Given the description of an element on the screen output the (x, y) to click on. 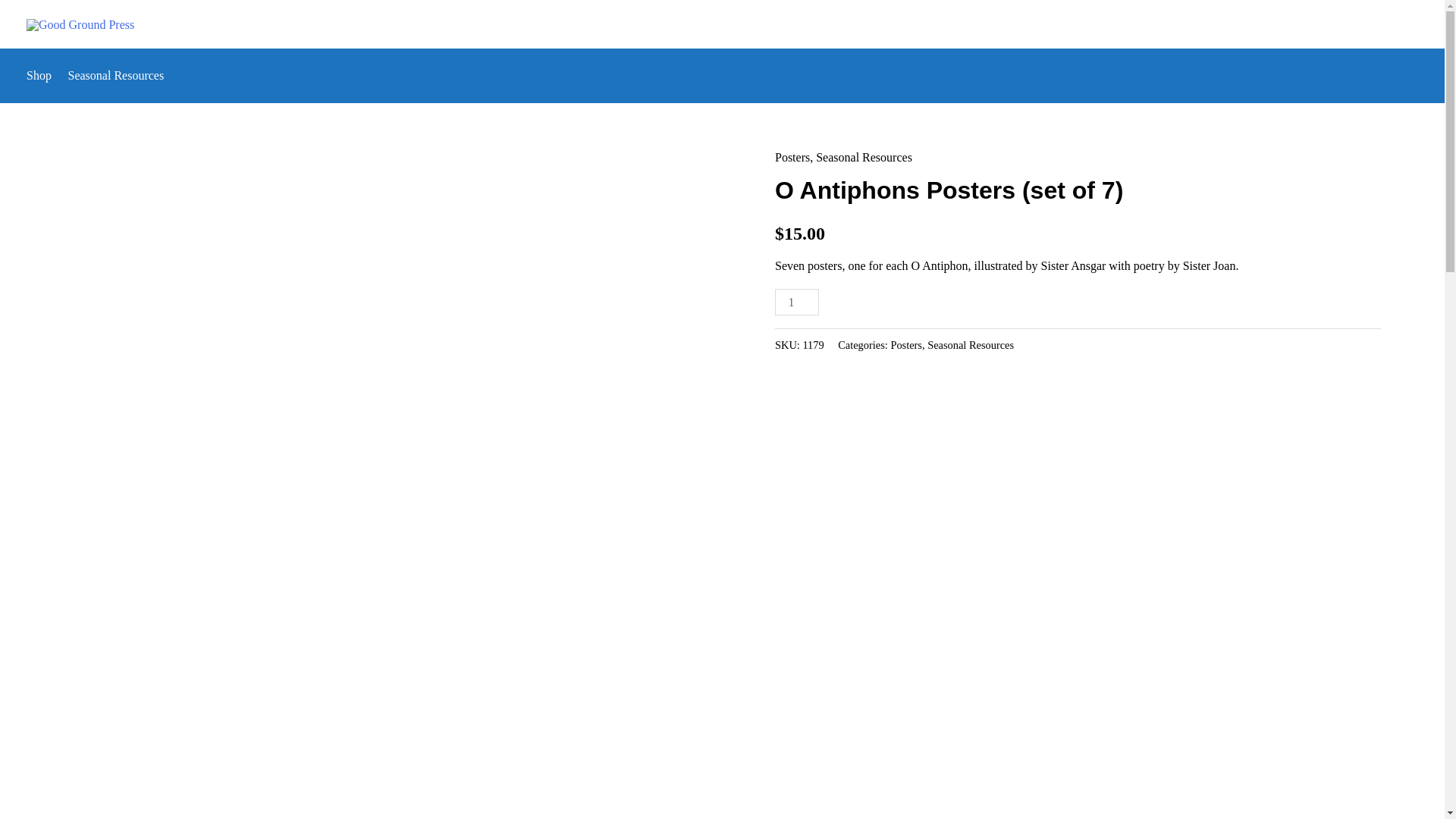
About Us (1377, 24)
Free Resources (1281, 24)
Faith Formation (1043, 24)
Cards (1195, 24)
Books (1131, 24)
1 (796, 302)
